Given the description of an element on the screen output the (x, y) to click on. 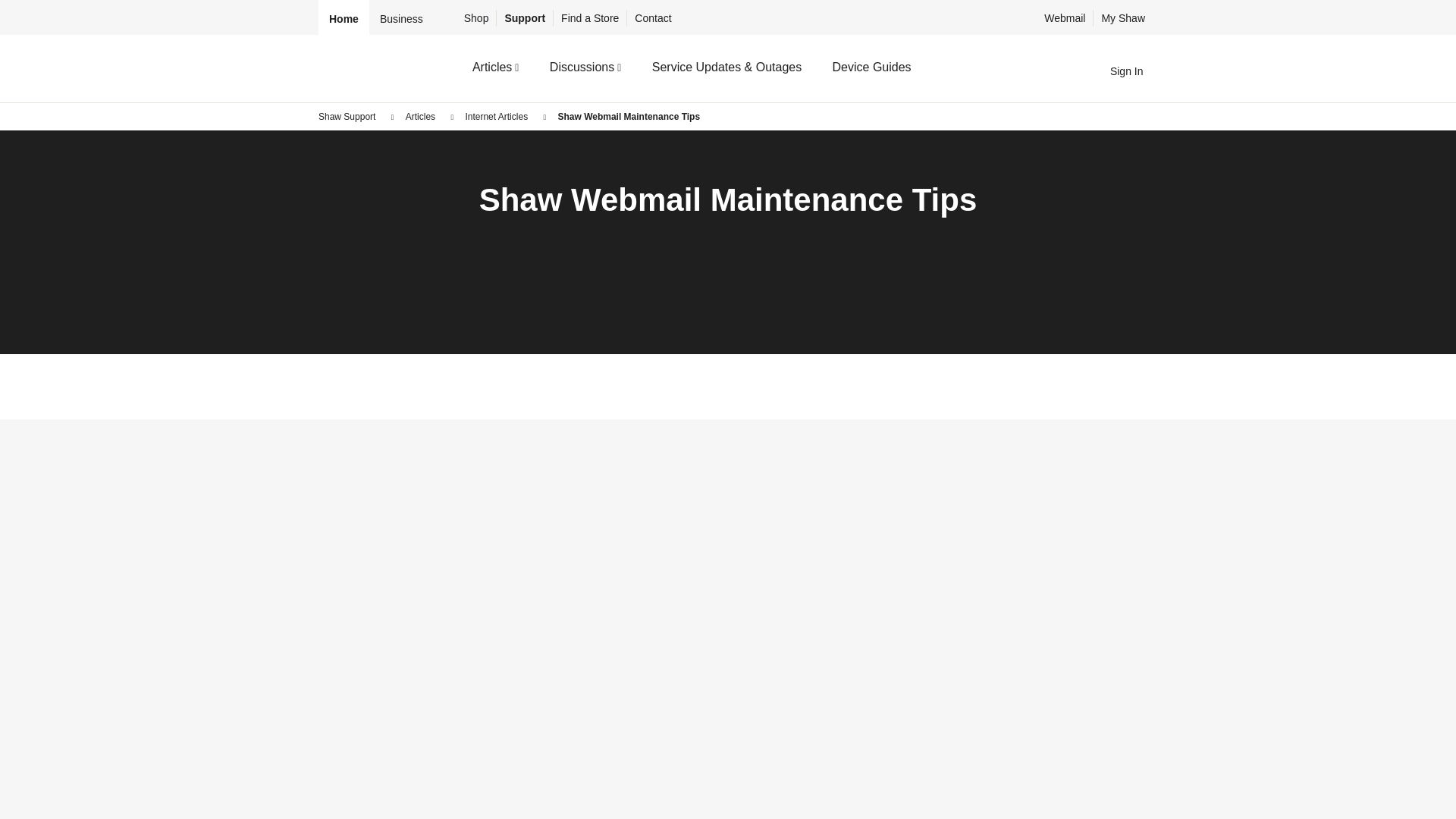
Articles (491, 68)
Business (401, 19)
My Shaw (1123, 18)
Sign In (1112, 70)
Articles (420, 116)
Contact (652, 18)
Community (375, 67)
Device Guides (867, 68)
Shaw Support (346, 116)
Internet Articles (495, 116)
